Given the description of an element on the screen output the (x, y) to click on. 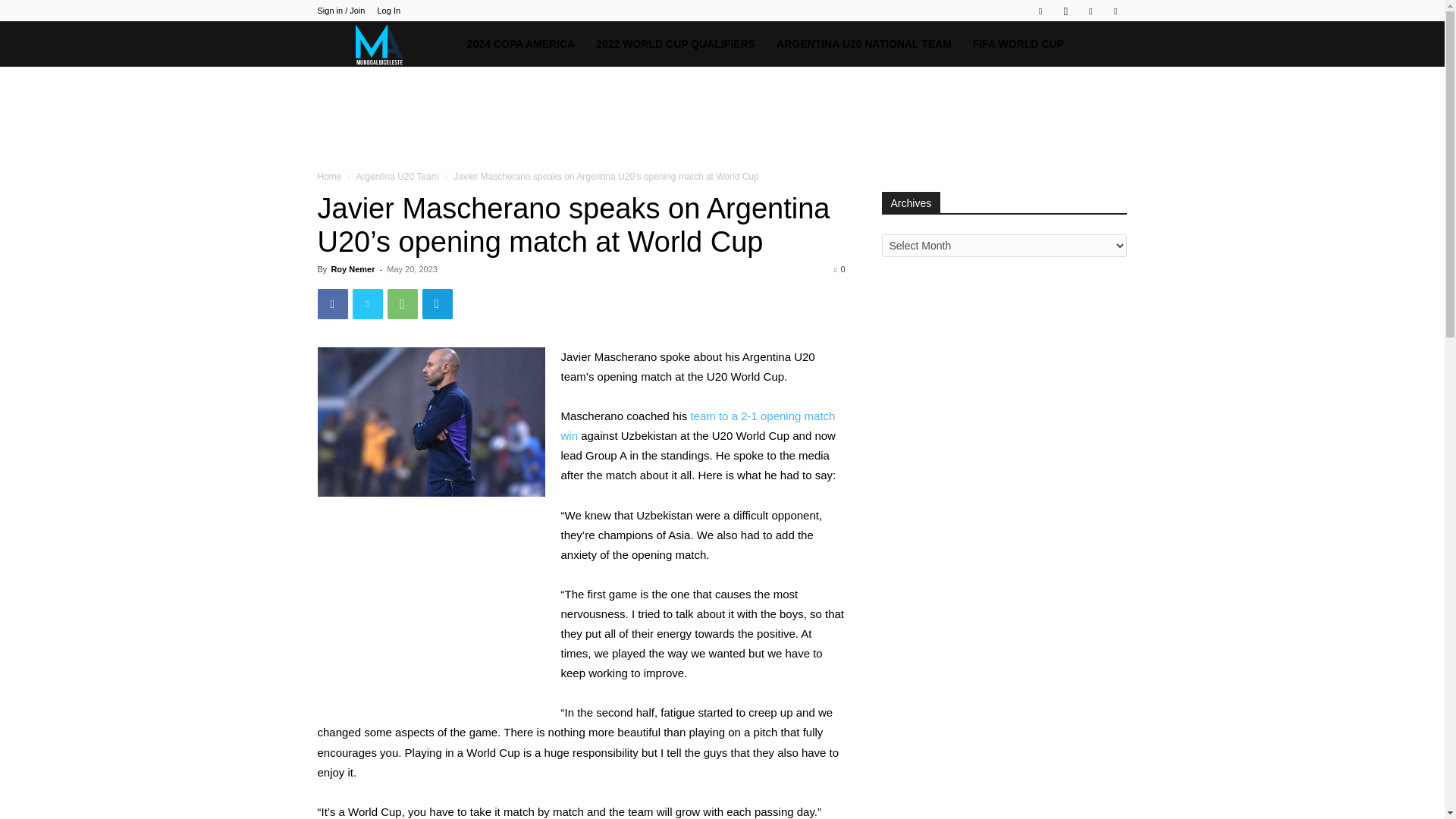
team to a 2-1 opening match win (697, 425)
Telegram (436, 304)
View all posts in Argentina U20 Team (396, 176)
2024 COPA AMERICA (521, 43)
Advertisement (721, 119)
Facebook (332, 304)
Mundo Albiceleste (386, 44)
2022 WORLD CUP QUALIFIERS (675, 43)
Twitter (366, 304)
Log In (388, 10)
ARGENTINA U20 NATIONAL TEAM (863, 43)
Facebook (1040, 10)
Home (328, 176)
0 (839, 268)
FIFA WORLD CUP (1018, 43)
